Given the description of an element on the screen output the (x, y) to click on. 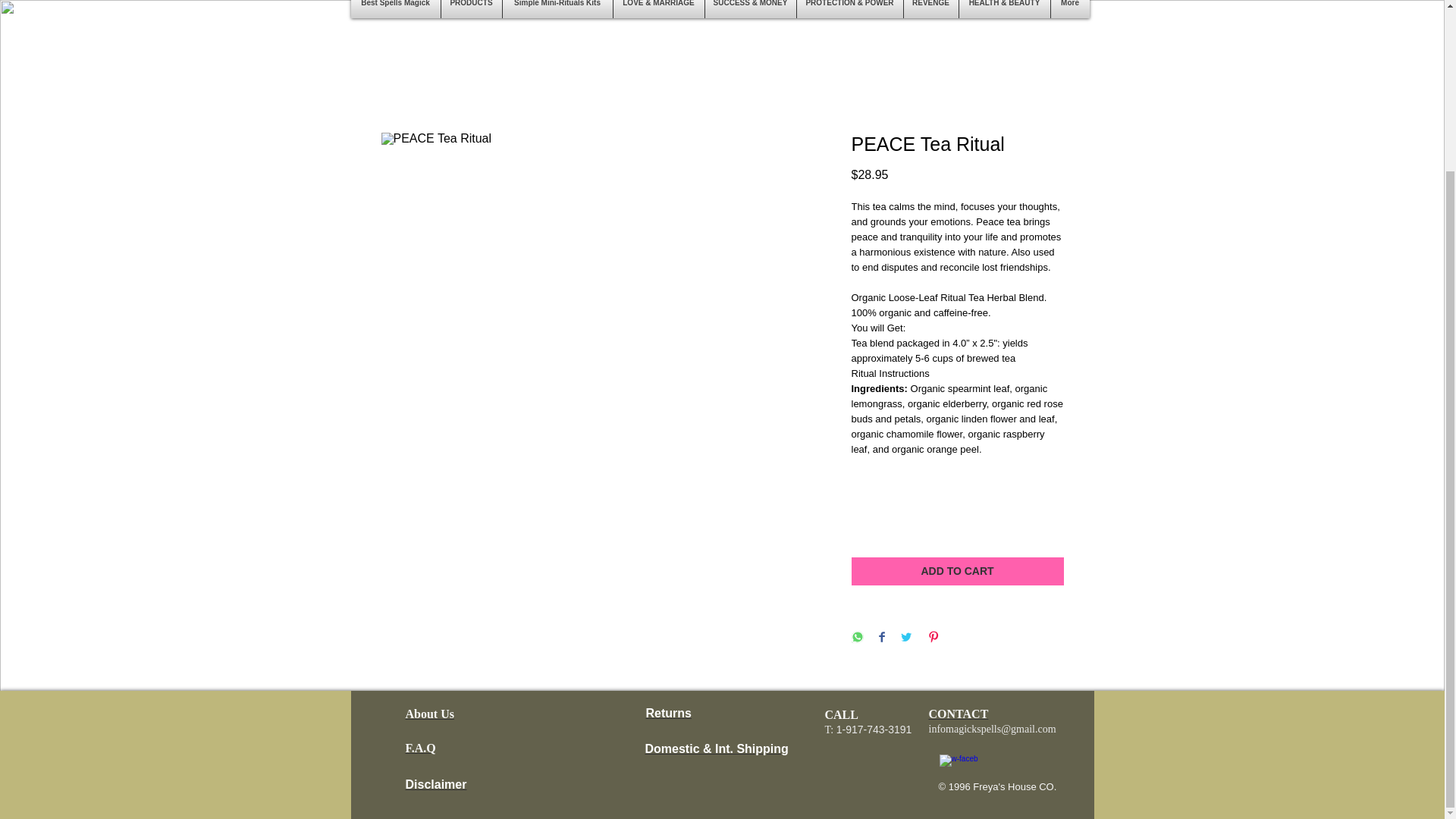
Best Spells Magick (394, 9)
REVENGE (931, 9)
Simple Mini-Rituals Kits (556, 9)
PRODUCTS (471, 9)
